Given the description of an element on the screen output the (x, y) to click on. 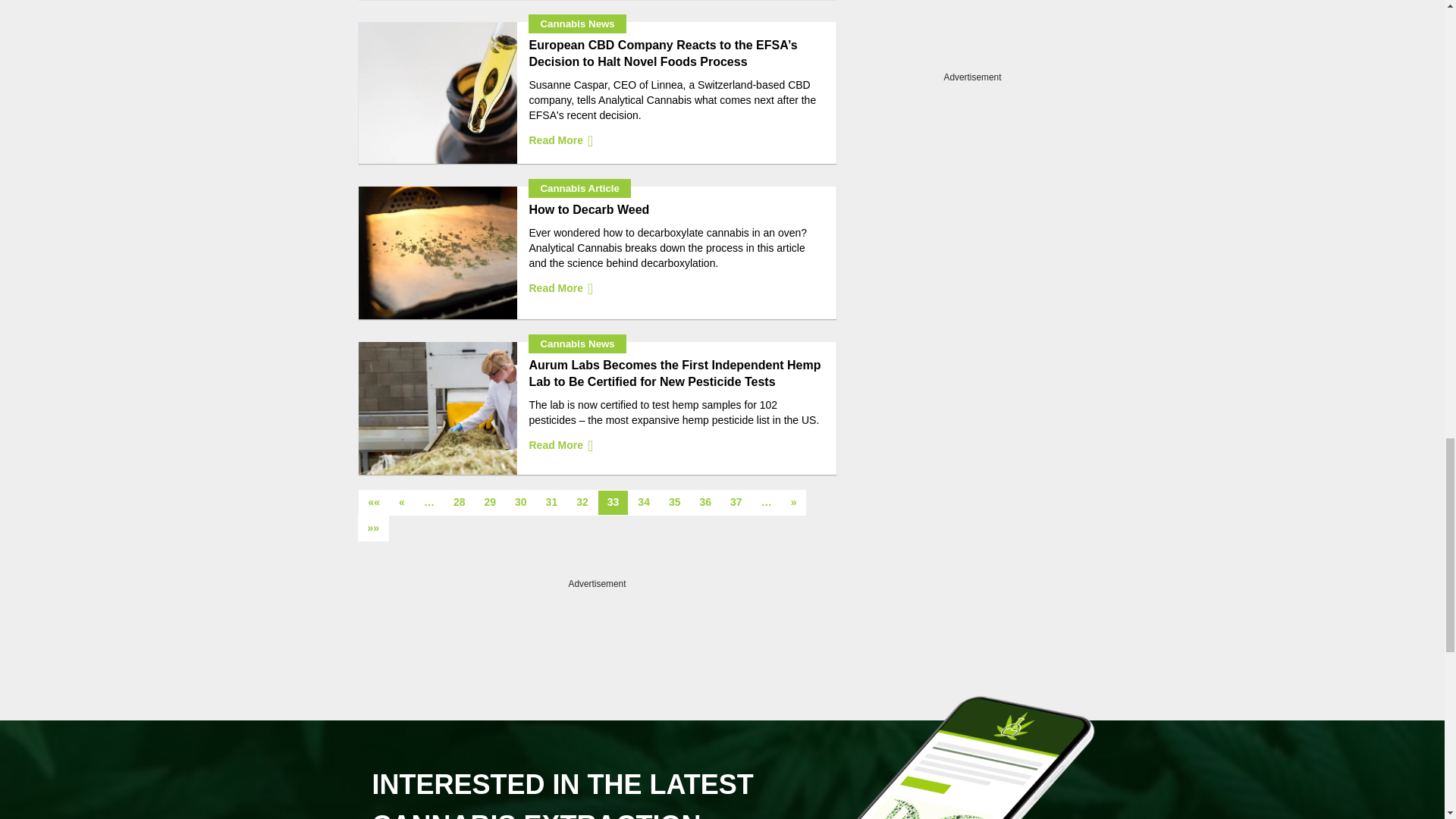
3rd party ad content (597, 614)
